Given the description of an element on the screen output the (x, y) to click on. 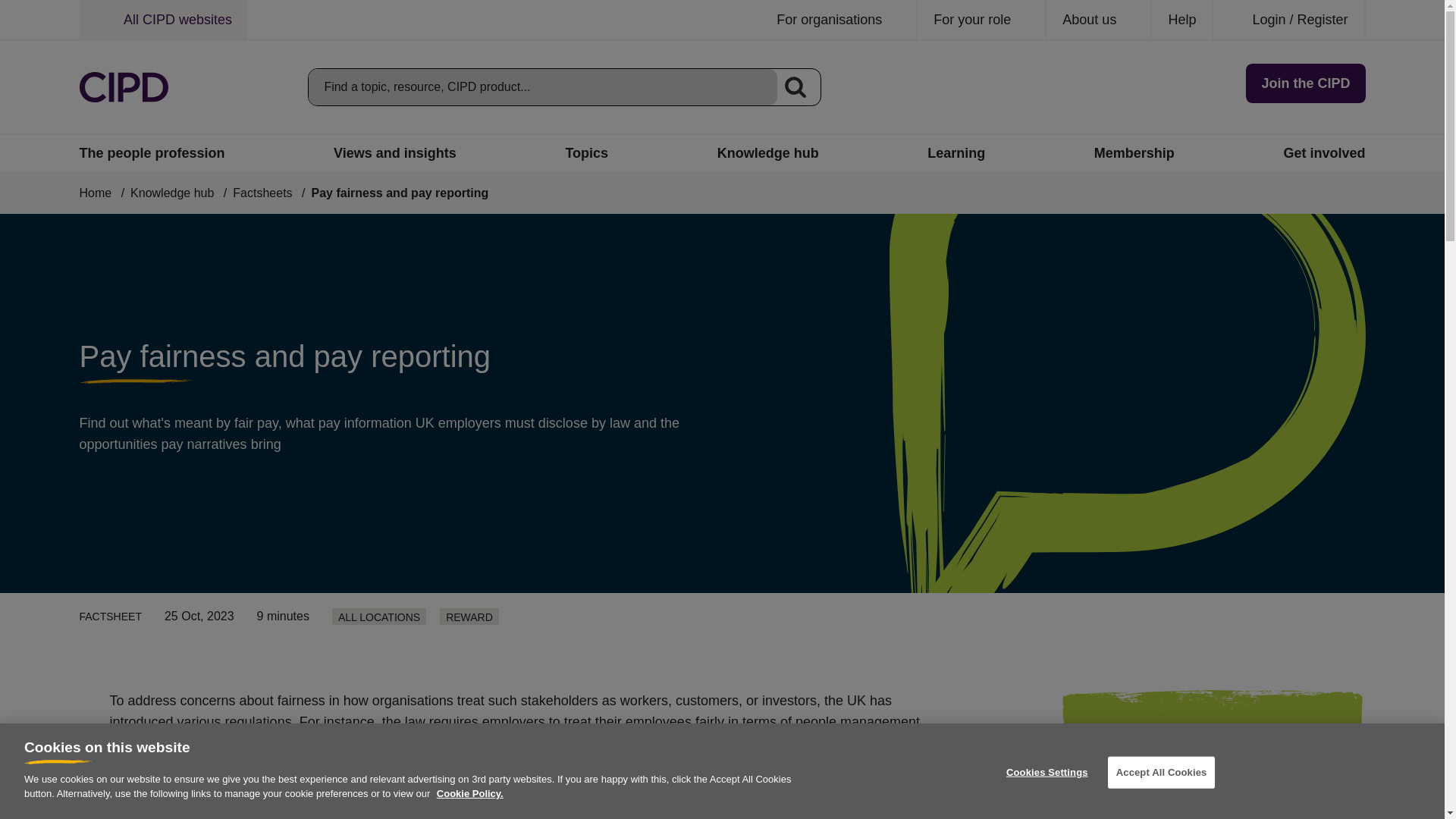
For your role (981, 19)
Search (795, 86)
For organisations (838, 19)
Search (795, 86)
All CIPD websites (162, 19)
CIPD (123, 87)
About us (1098, 19)
Help (1181, 19)
